Given the description of an element on the screen output the (x, y) to click on. 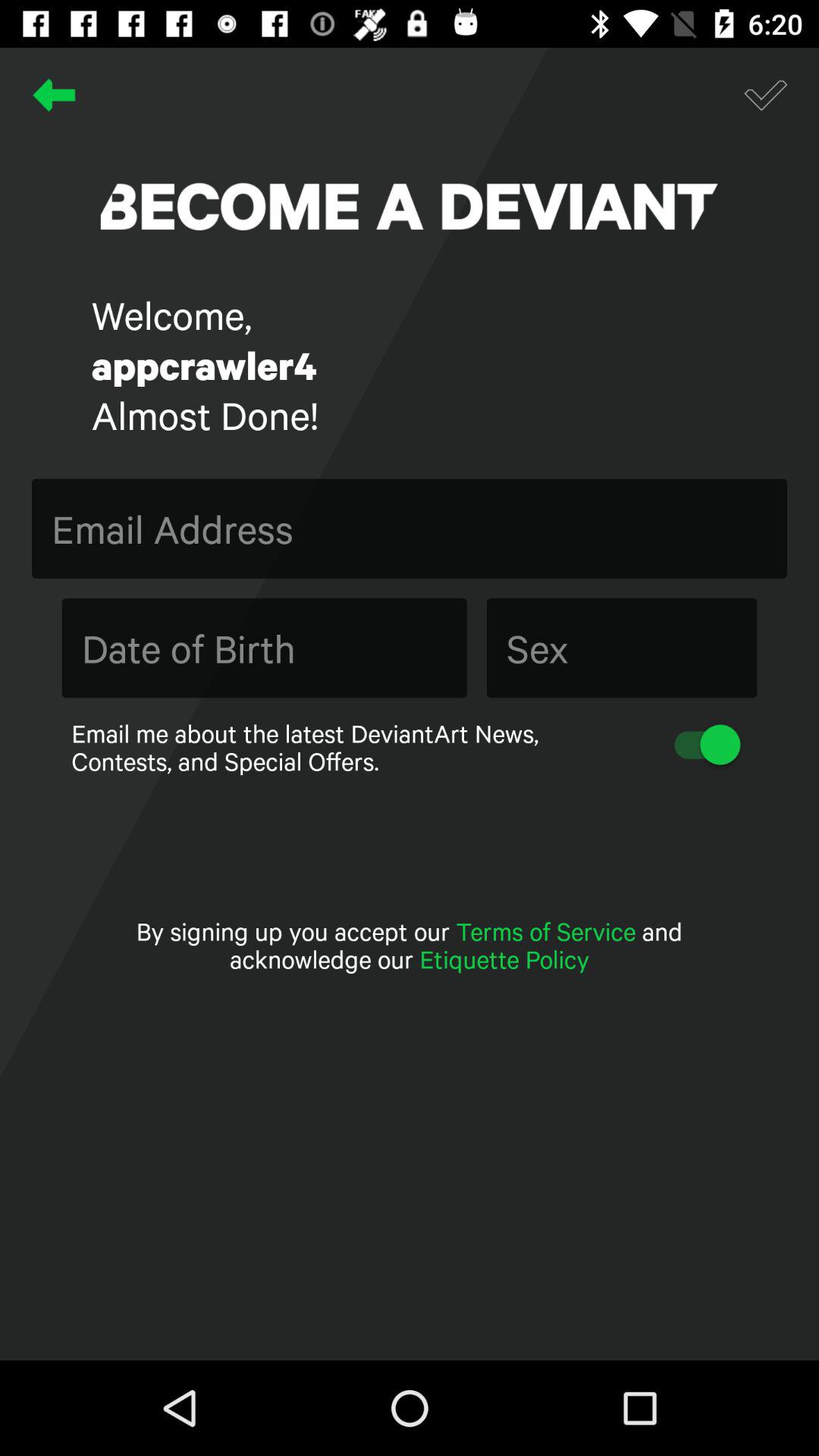
choose item below email me about (409, 944)
